Given the description of an element on the screen output the (x, y) to click on. 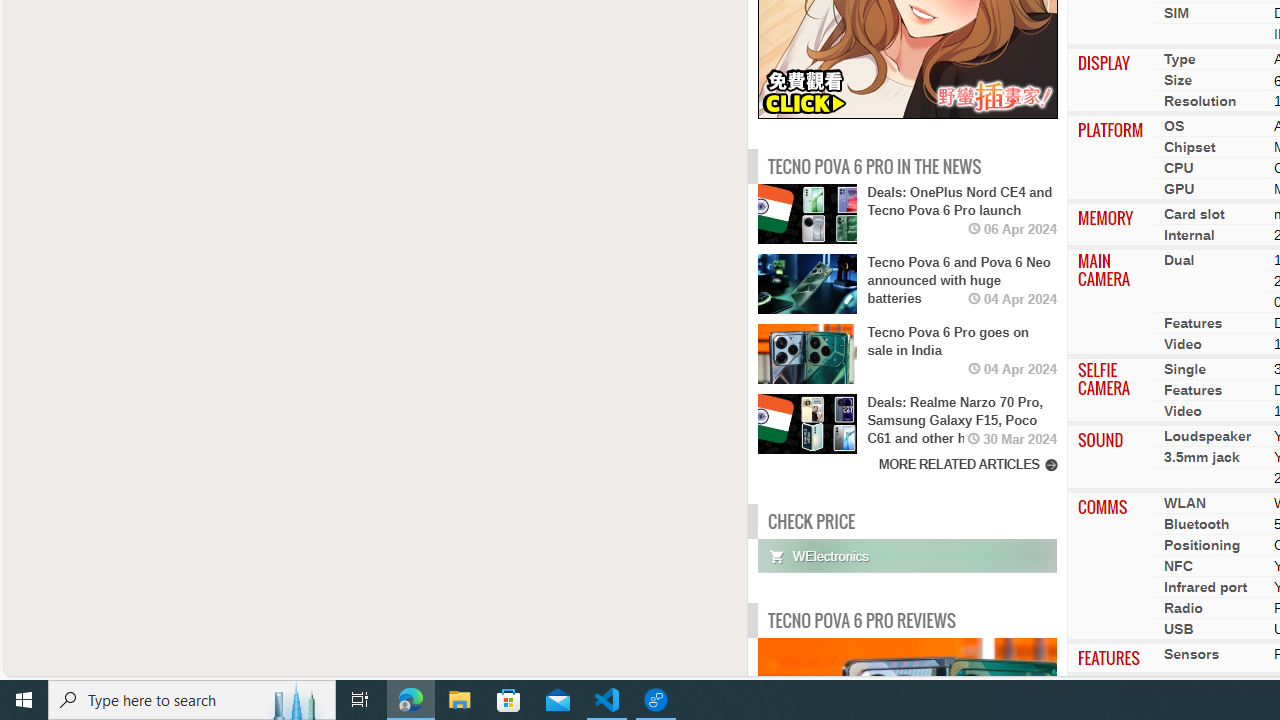
SIM (1176, 12)
NFC (1177, 566)
Features (1192, 390)
Video (1182, 411)
CPU (1178, 168)
Loudspeaker (1207, 435)
Resolution (1199, 101)
GPU (1179, 189)
Radio (1183, 608)
USB (1178, 628)
TECNO POVA 6 PRO IN THE NEWS (874, 166)
3.5mm jack (1201, 457)
